Given the description of an element on the screen output the (x, y) to click on. 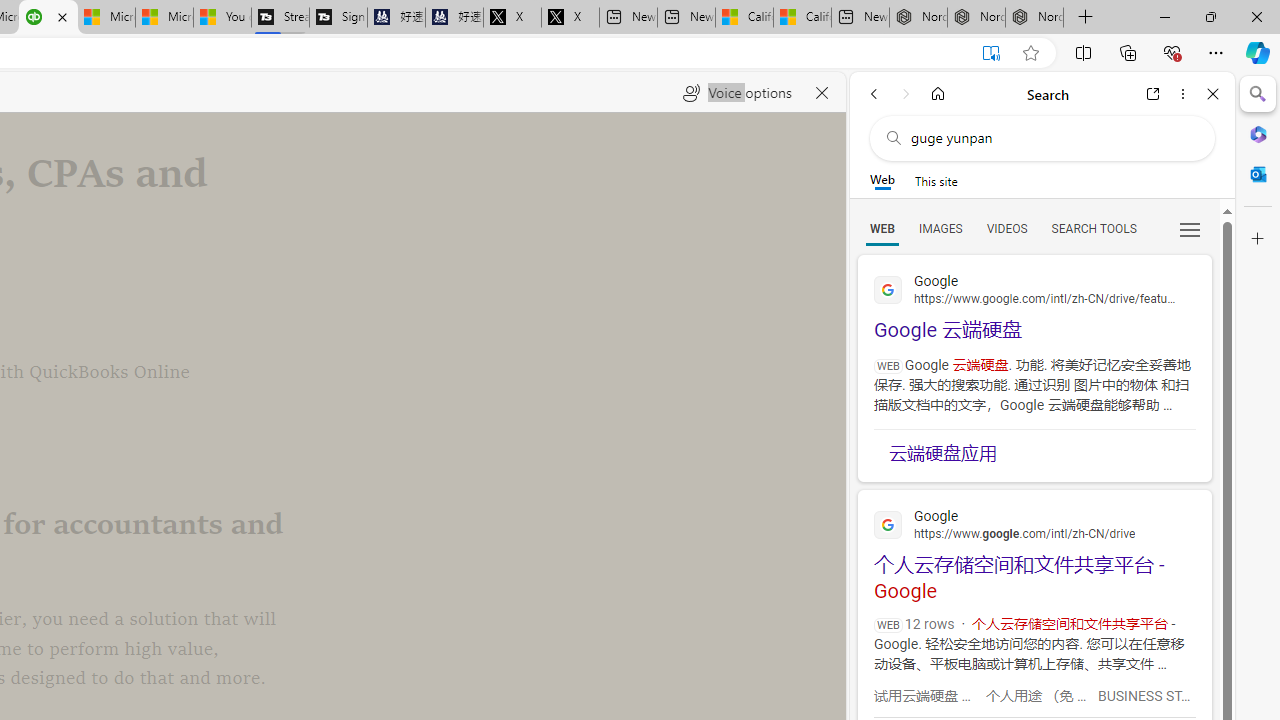
Web scope (882, 180)
Nordace Siena Pro 15 Backpack (976, 17)
Nordace - Siena Pro 15 Essential Set (1034, 17)
This site scope (936, 180)
Global web icon (888, 524)
Outlook (1258, 174)
Search Filter, WEB (882, 228)
